Given the description of an element on the screen output the (x, y) to click on. 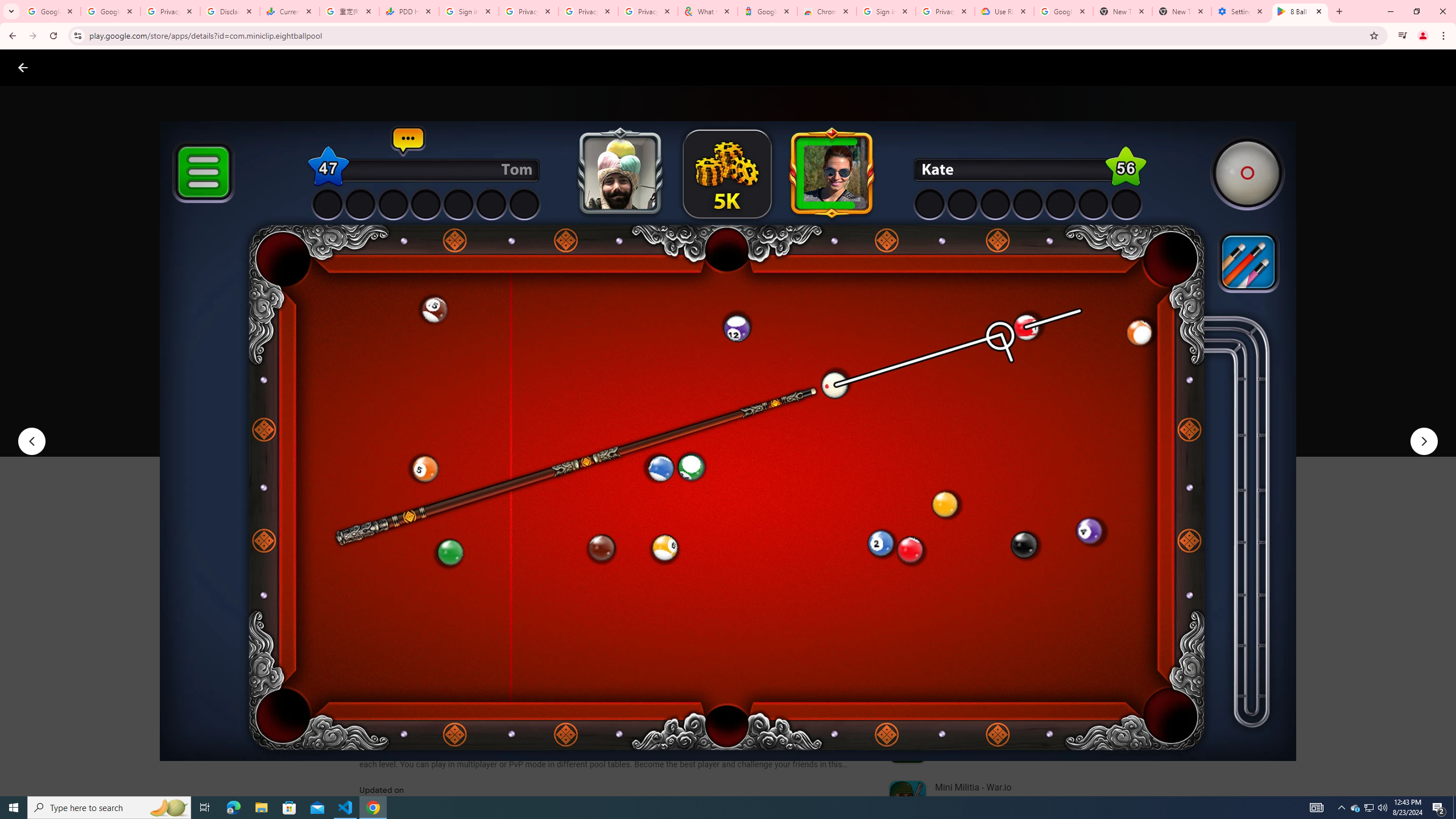
Google Workspace Admin Community (50, 11)
Previous (31, 441)
Apps (182, 67)
Open account menu (1436, 67)
Expand (978, 497)
8 Ball Pool - Apps on Google Play (1300, 11)
Games (141, 67)
